Given the description of an element on the screen output the (x, y) to click on. 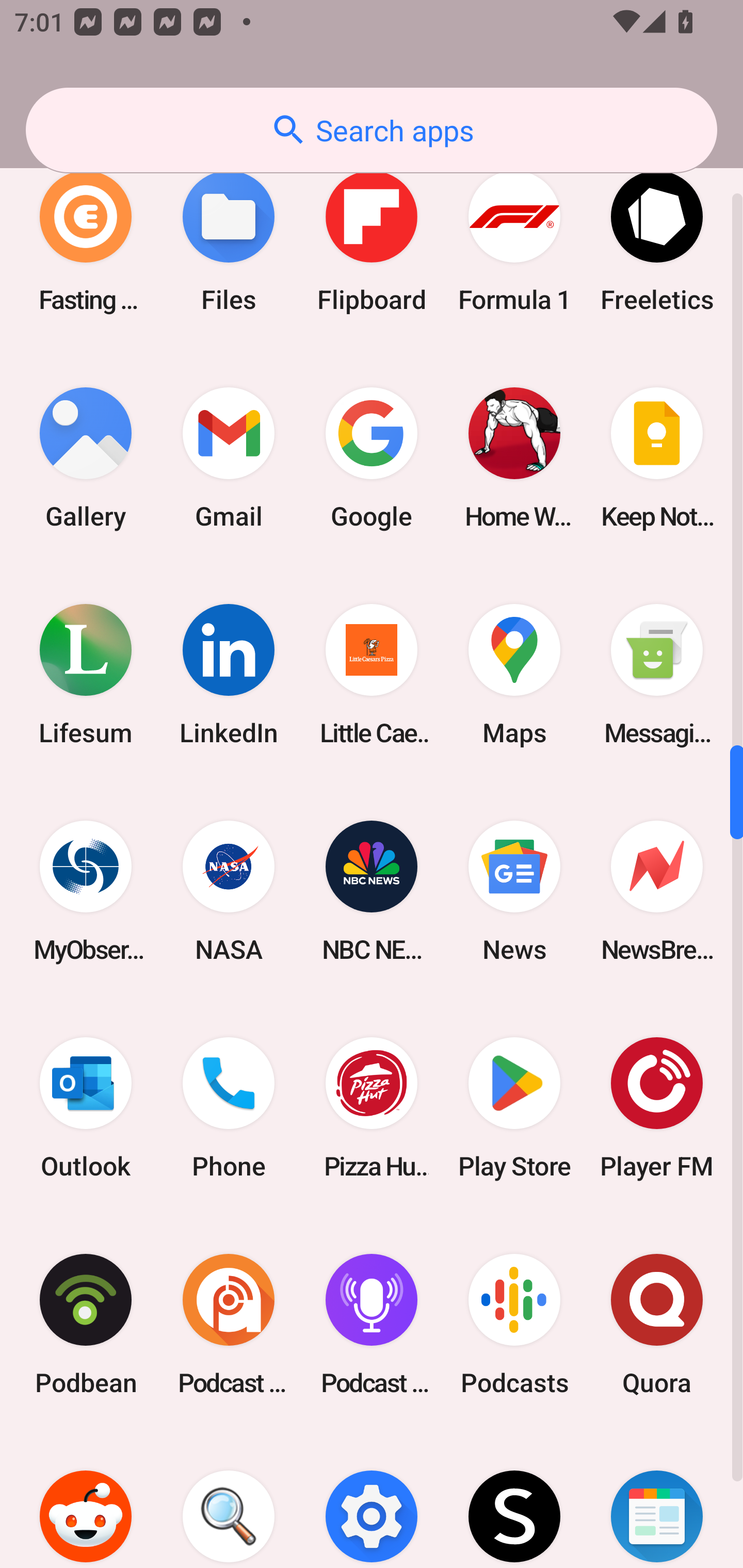
  Search apps (371, 130)
Fasting Coach (85, 241)
Files (228, 241)
Flipboard (371, 241)
Formula 1 (514, 241)
Freeletics (656, 241)
Gallery (85, 457)
Gmail (228, 457)
Google (371, 457)
Home Workout (514, 457)
Keep Notes (656, 457)
Lifesum (85, 674)
LinkedIn (228, 674)
Little Caesars Pizza (371, 674)
Maps (514, 674)
Messaging (656, 674)
MyObservatory (85, 891)
NASA (228, 891)
NBC NEWS (371, 891)
News (514, 891)
NewsBreak (656, 891)
Outlook (85, 1108)
Phone (228, 1108)
Pizza Hut HK & Macau (371, 1108)
Play Store (514, 1108)
Player FM (656, 1108)
Podbean (85, 1324)
Podcast Addict (228, 1324)
Podcast Player (371, 1324)
Podcasts (514, 1324)
Quora (656, 1324)
Reddit (85, 1500)
Search (228, 1500)
Settings (371, 1500)
SHEIN (514, 1500)
SmartNews (656, 1500)
